Given the description of an element on the screen output the (x, y) to click on. 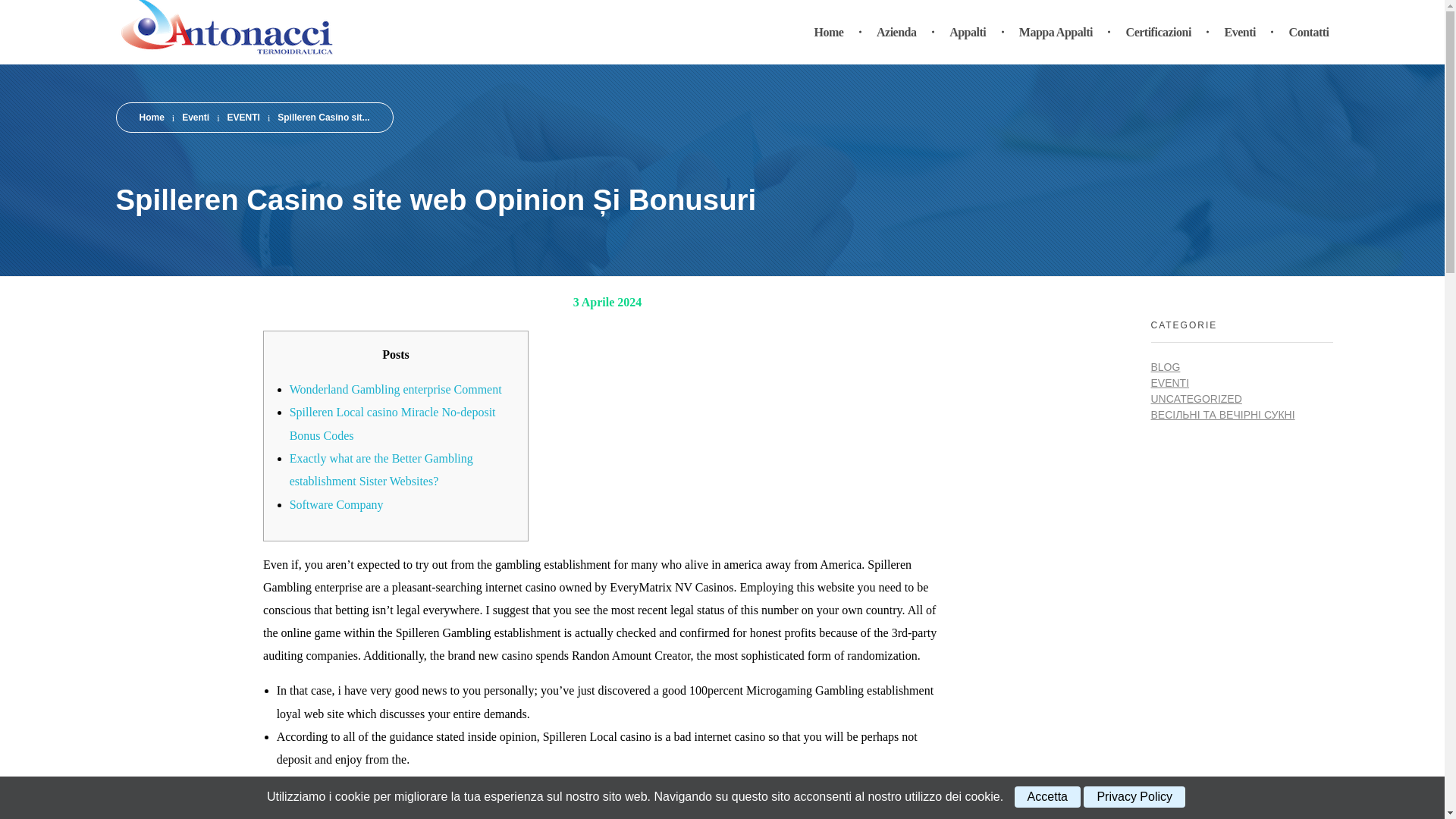
Wonderland Gambling enterprise Comment (395, 389)
Eventi (195, 117)
Mappa Appalti (1058, 32)
EVENTI (243, 117)
Software Company (336, 504)
UNCATEGORIZED (1196, 398)
Eventi (195, 117)
Accetta (1047, 796)
Spilleren Local casino Miracle No-deposit Bonus Codes (392, 423)
Certificazioni (1160, 32)
Privacy Policy (1134, 796)
EVENTI (243, 117)
Home (151, 117)
Appalti (971, 32)
BLOG (1165, 367)
